Given the description of an element on the screen output the (x, y) to click on. 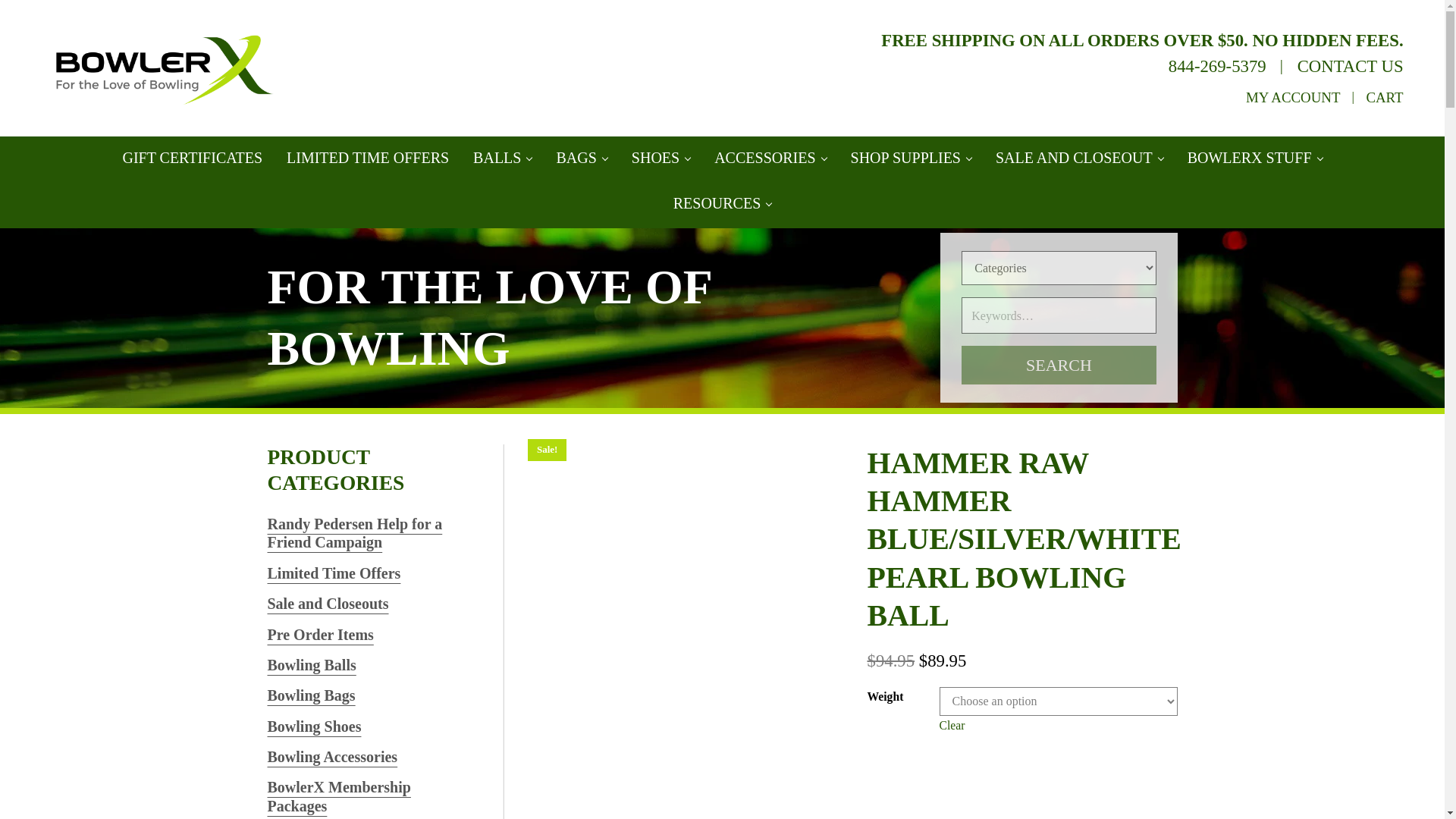
CONTACT US (1350, 66)
MY ACCOUNT (1293, 97)
CART (1384, 97)
